Given the description of an element on the screen output the (x, y) to click on. 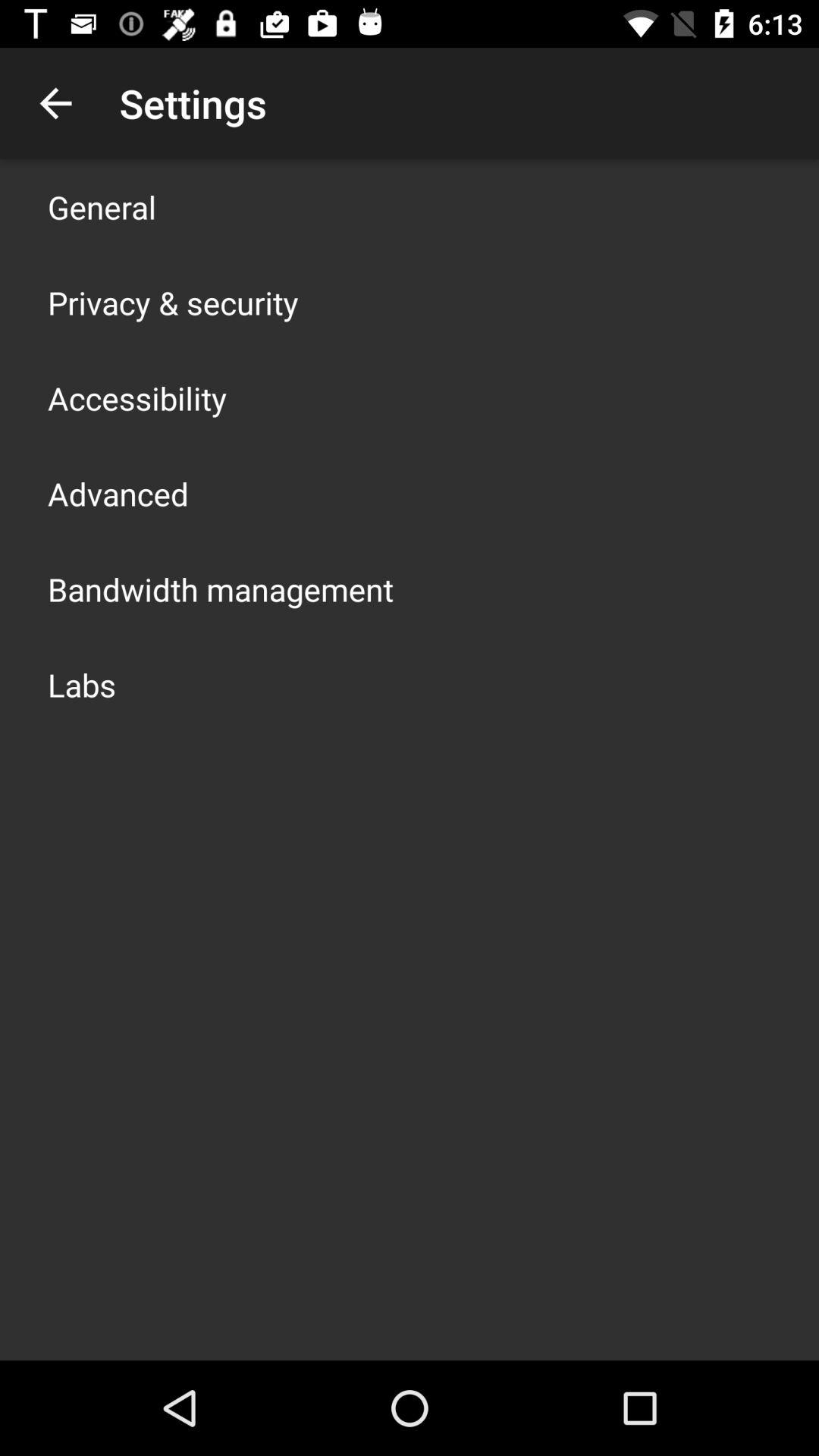
turn off the app above general (55, 103)
